Given the description of an element on the screen output the (x, y) to click on. 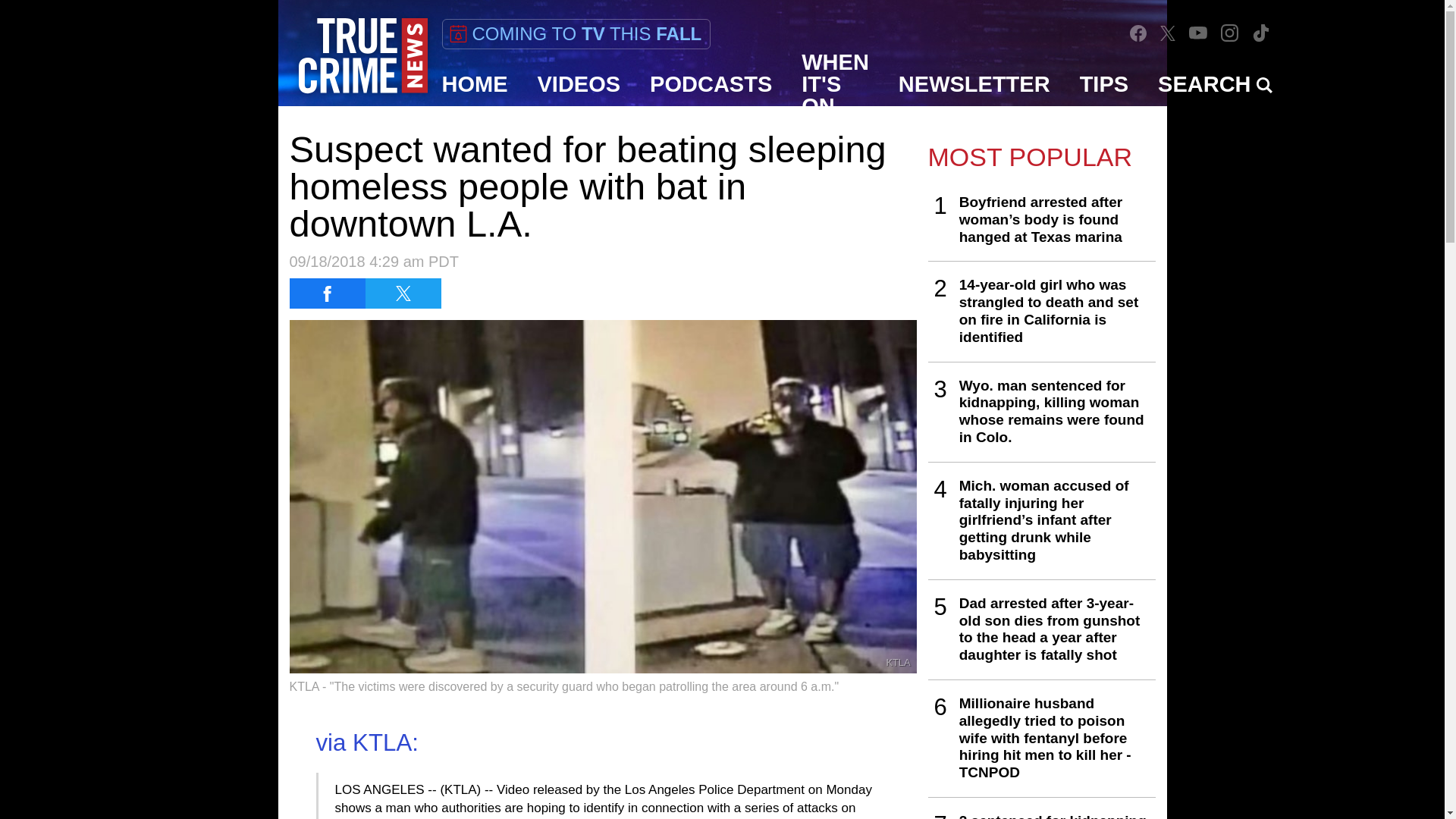
WHEN IT'S ON (835, 84)
NEWSLETTER (974, 84)
SEARCH (1214, 84)
VIDEOS (579, 84)
TikTok (1260, 32)
True Crime News (363, 56)
YouTube (1198, 32)
HOME (475, 84)
TikTok (1260, 32)
YouTube (1198, 32)
Twitter (1167, 32)
TIPS (1103, 84)
Twitter (1167, 32)
Instagram (1229, 32)
COMING TO TV THIS FALL (575, 33)
